Given the description of an element on the screen output the (x, y) to click on. 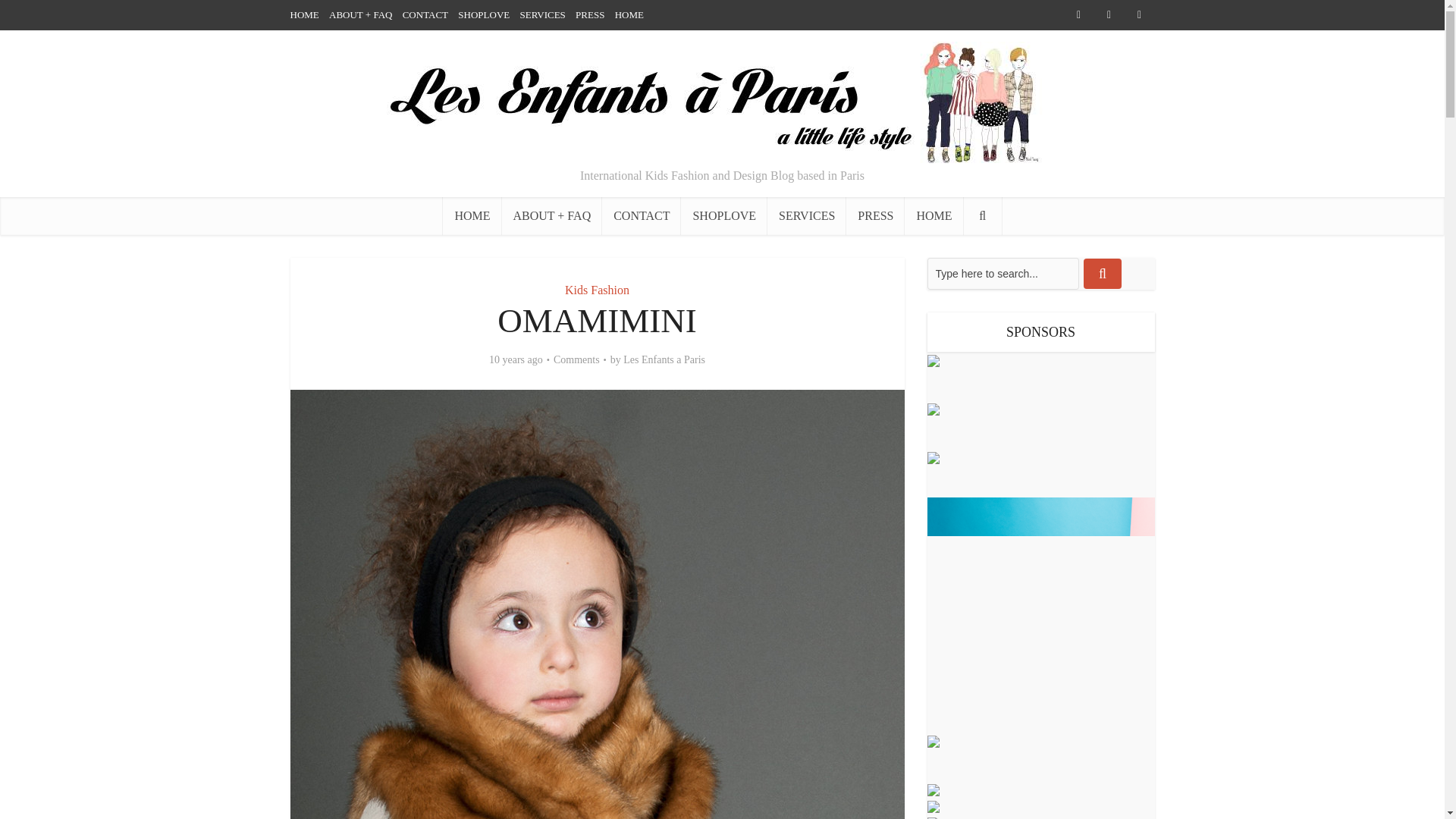
Type here to search... (1002, 273)
PRESS (874, 216)
HOME (933, 216)
SHOPLOVE (724, 216)
Kids Fashion (596, 289)
HOME (303, 14)
CONTACT (641, 216)
HOME (628, 14)
SERVICES (541, 14)
Comments (576, 359)
